Given the description of an element on the screen output the (x, y) to click on. 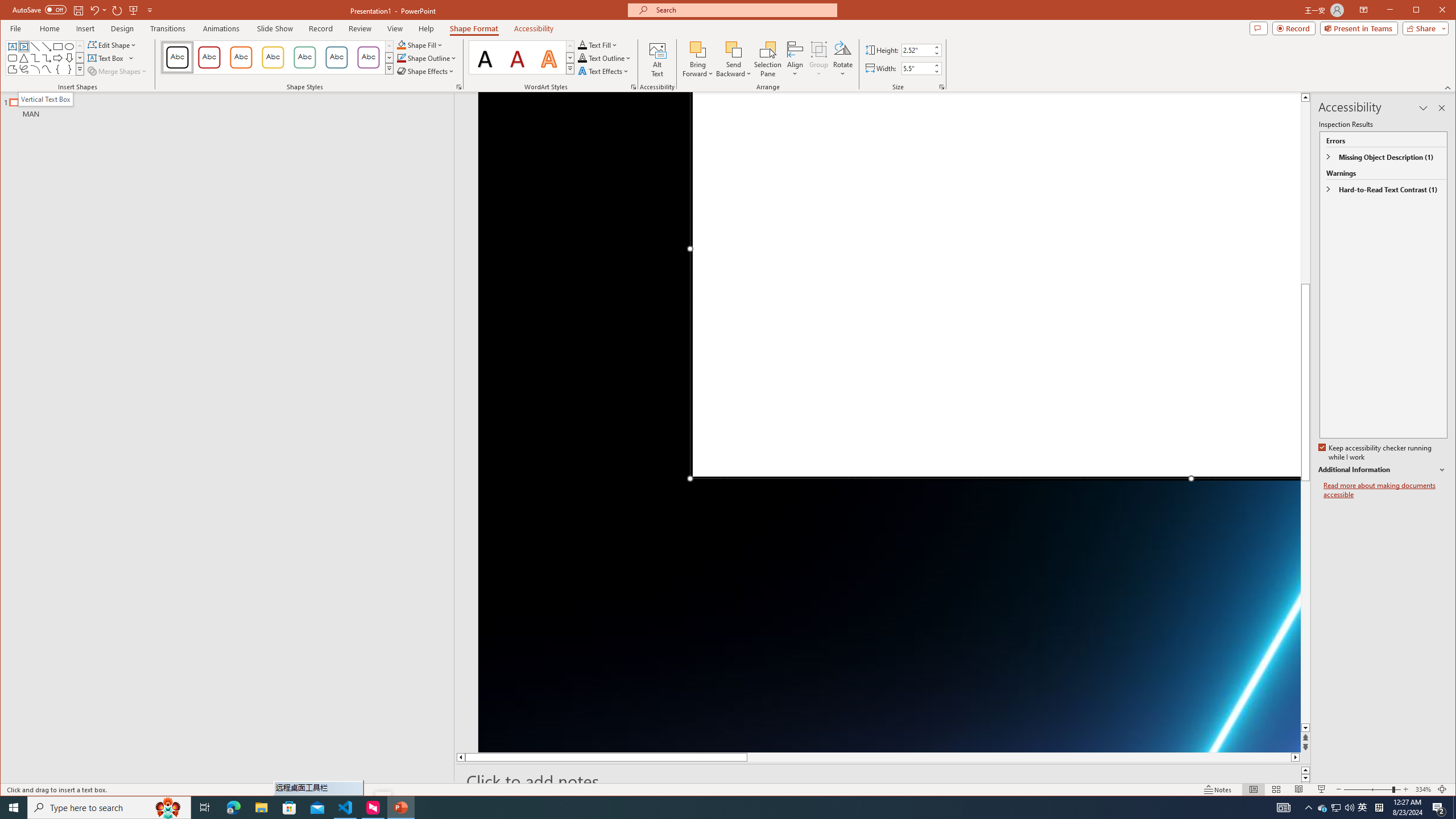
Shape Width (916, 68)
Colored Outline - Gold, Accent 3 (272, 57)
AutomationID: TextStylesGallery (521, 57)
